Given the description of an element on the screen output the (x, y) to click on. 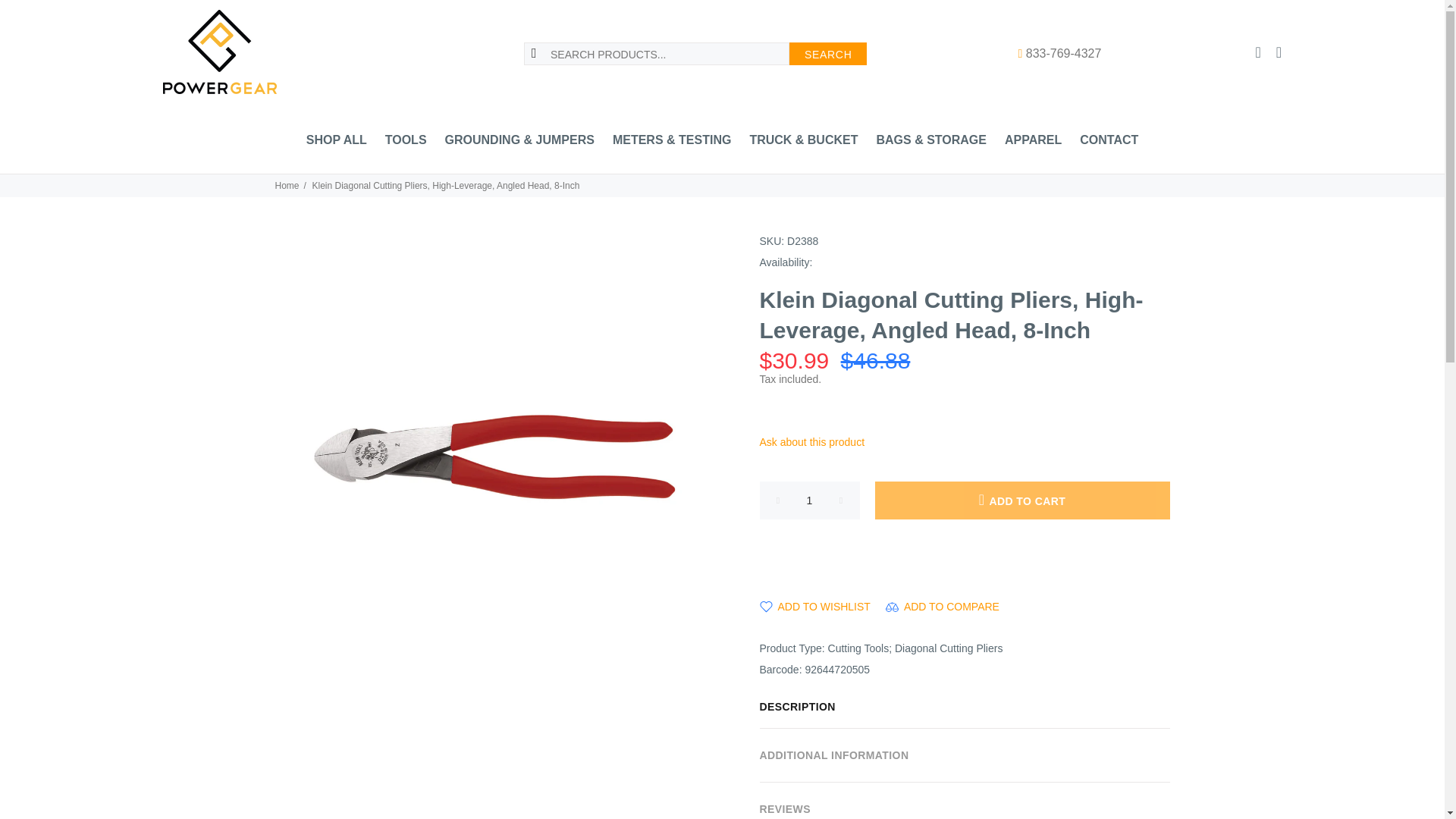
SEARCH (828, 53)
1 (810, 500)
